Given the description of an element on the screen output the (x, y) to click on. 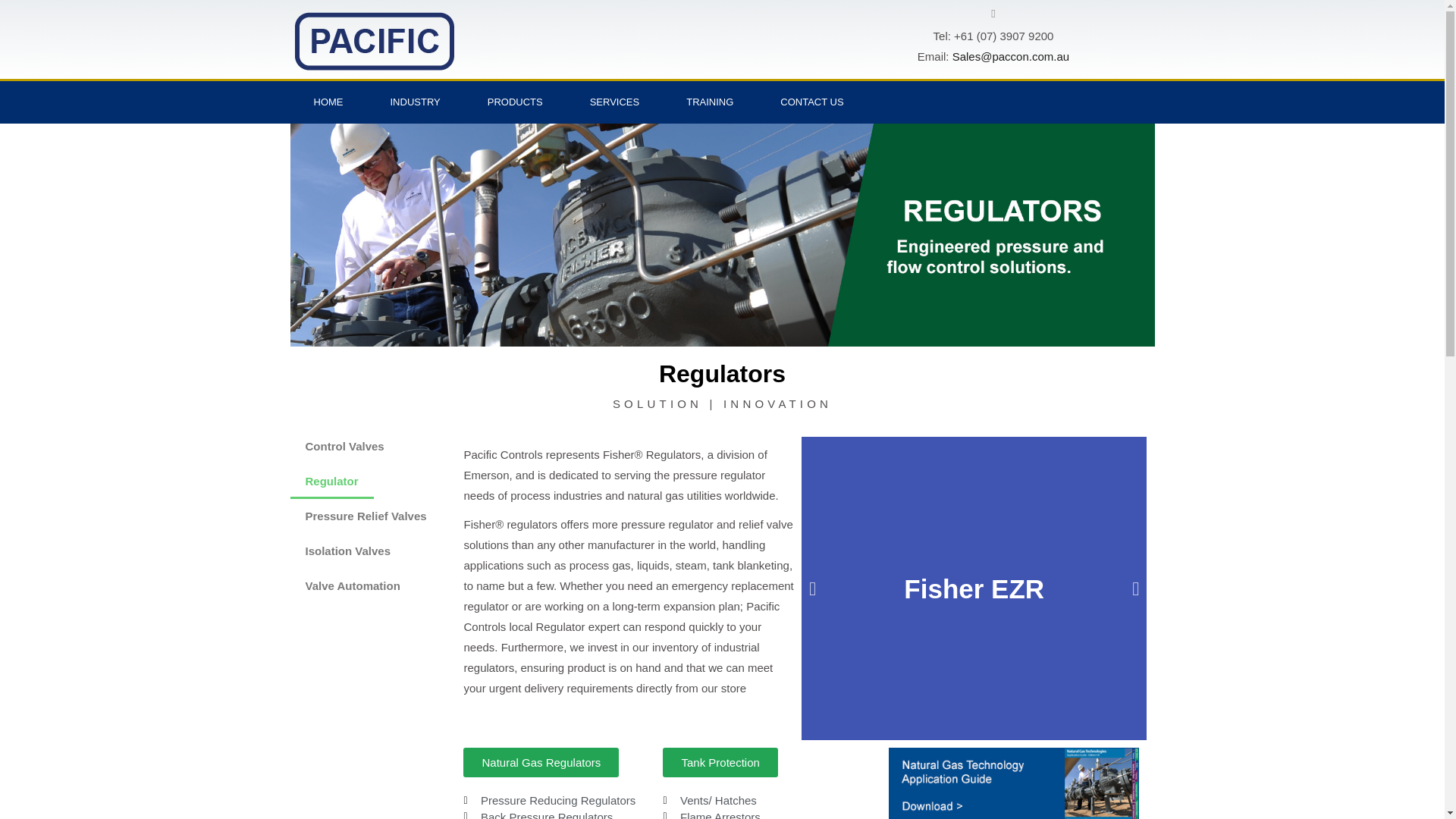
CONTACT US (811, 102)
HOME (327, 102)
INDUSTRY (415, 102)
PRODUCTS (515, 102)
TRAINING (709, 102)
SERVICES (614, 102)
